Given the description of an element on the screen output the (x, y) to click on. 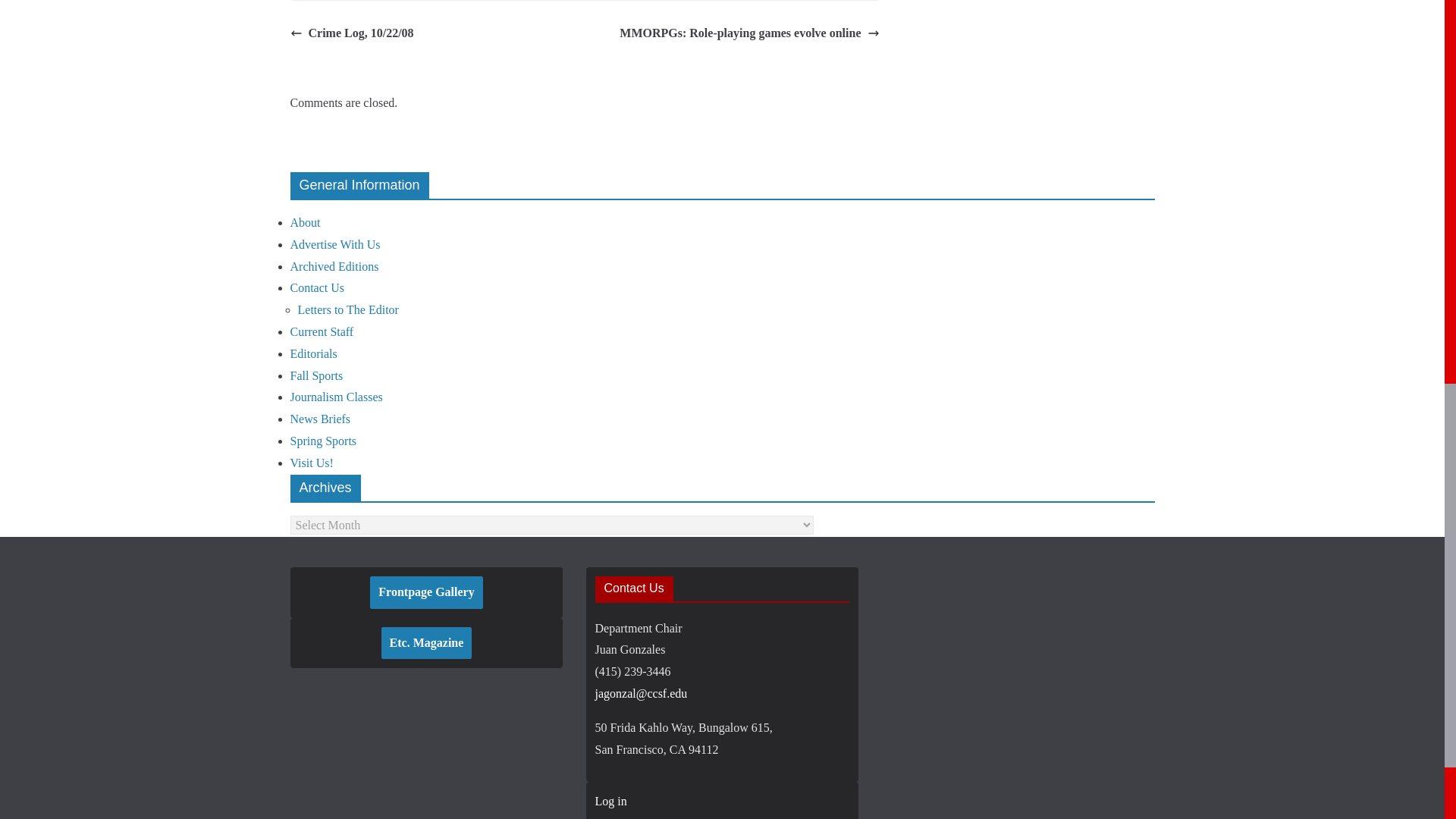
Current Staff (321, 331)
Visit Us! (311, 462)
Letters to The Editor (347, 309)
Archived Editions (333, 266)
Fall Sports (315, 375)
Spring Sports (322, 440)
Advertise With Us (334, 244)
MMORPGs: Role-playing games evolve online (749, 33)
Journalism Classes (335, 396)
News Briefs (319, 418)
